Given the description of an element on the screen output the (x, y) to click on. 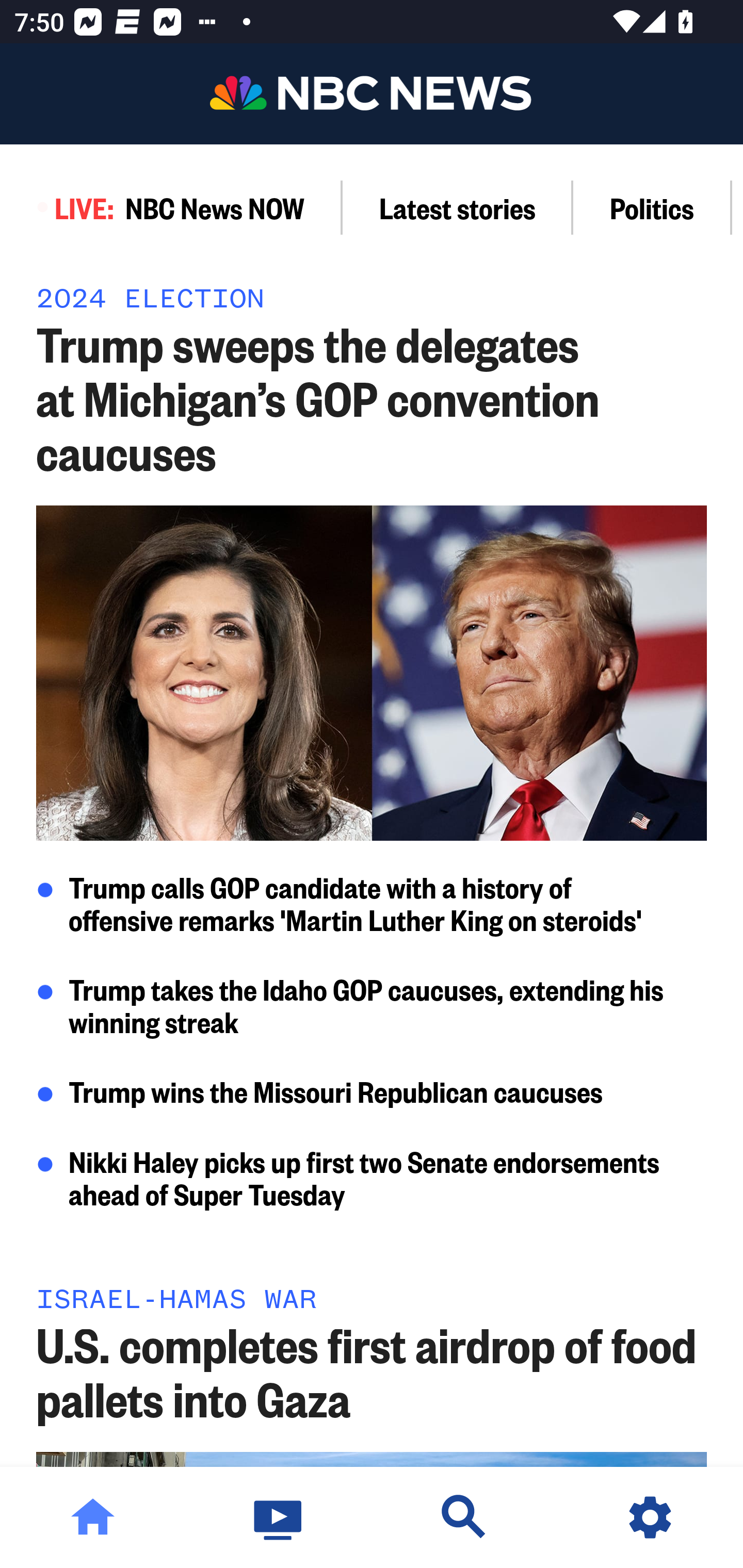
LIVE:  NBC News NOW (171, 207)
Latest stories Section,Latest stories (457, 207)
Politics Section,Politics (652, 207)
Watch (278, 1517)
Discover (464, 1517)
Settings (650, 1517)
